Given the description of an element on the screen output the (x, y) to click on. 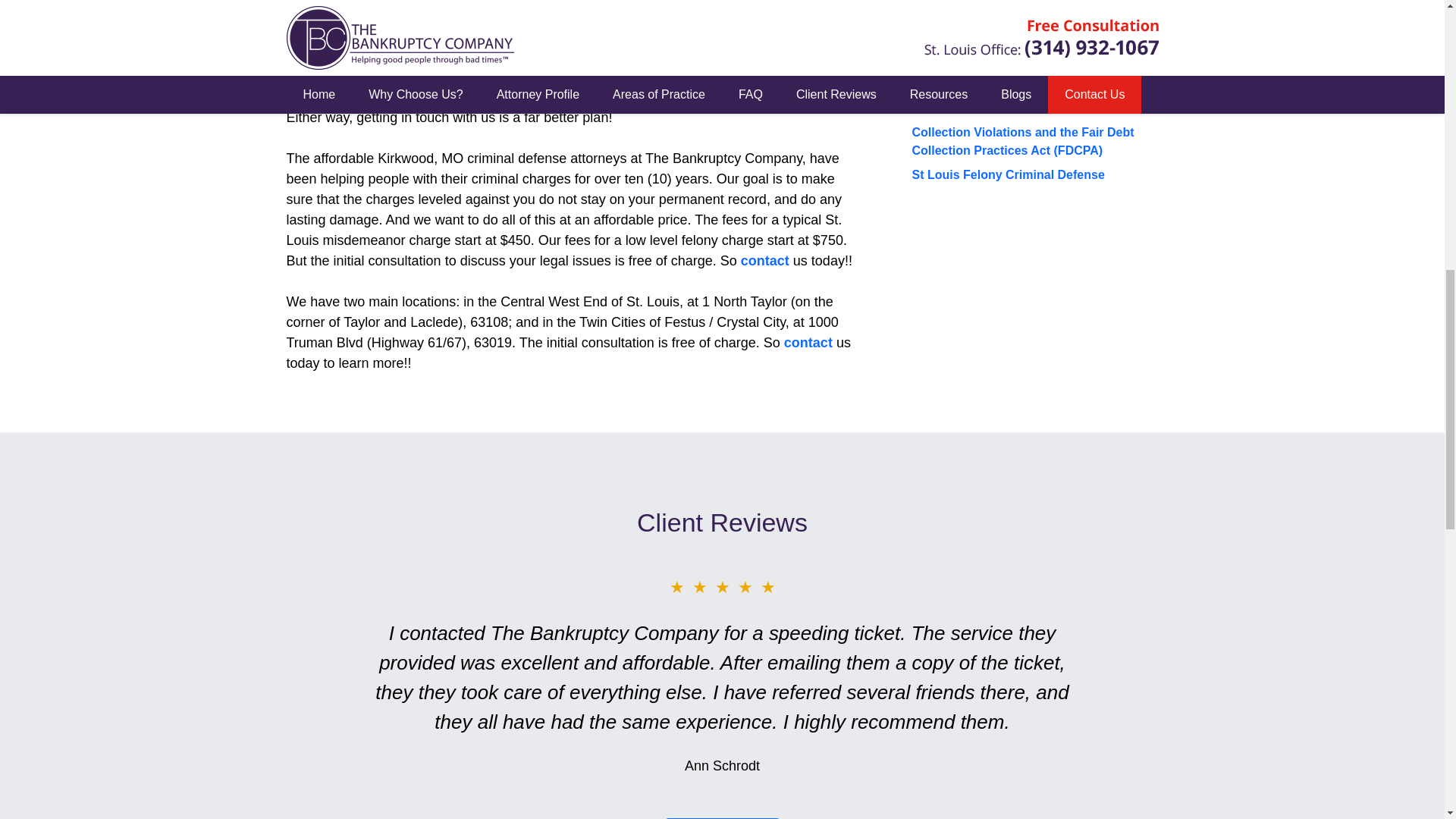
St. Louis Foreclosure Defense (998, 2)
St Louis Felony Criminal Defense (1007, 174)
contact (808, 342)
St. Louis Bankruptcy (971, 22)
contact (765, 260)
